Given the description of an element on the screen output the (x, y) to click on. 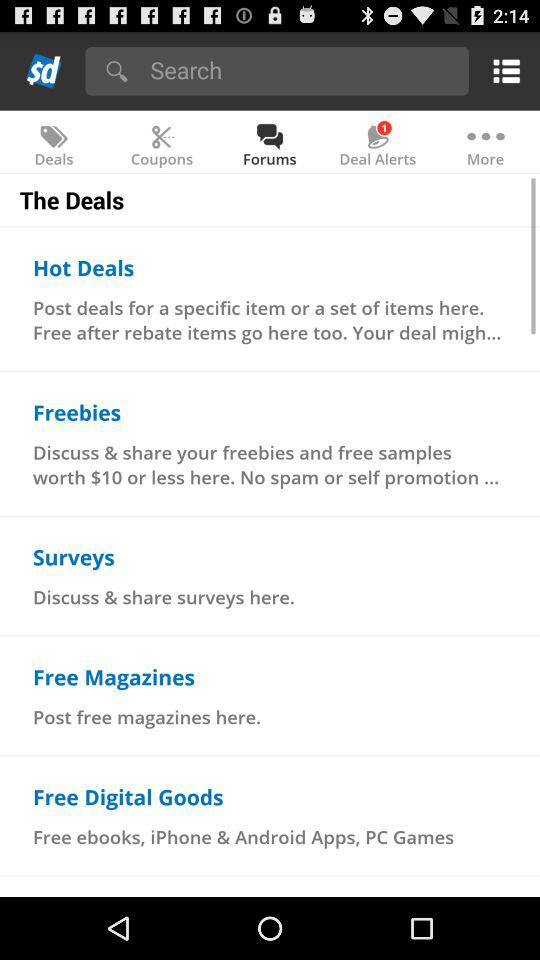
click the item above post deals for icon (83, 267)
